Given the description of an element on the screen output the (x, y) to click on. 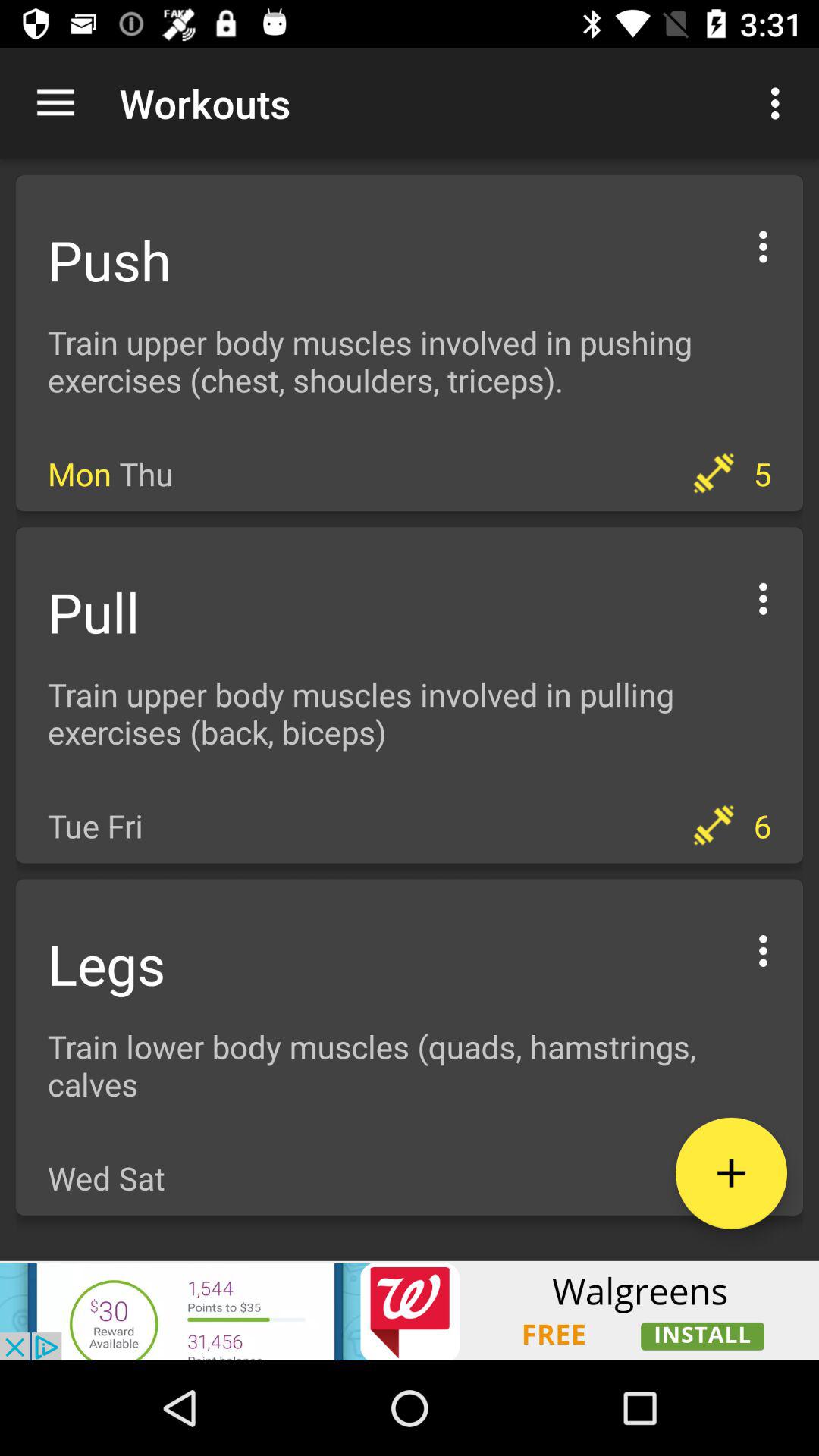
add notes (731, 1173)
